Given the description of an element on the screen output the (x, y) to click on. 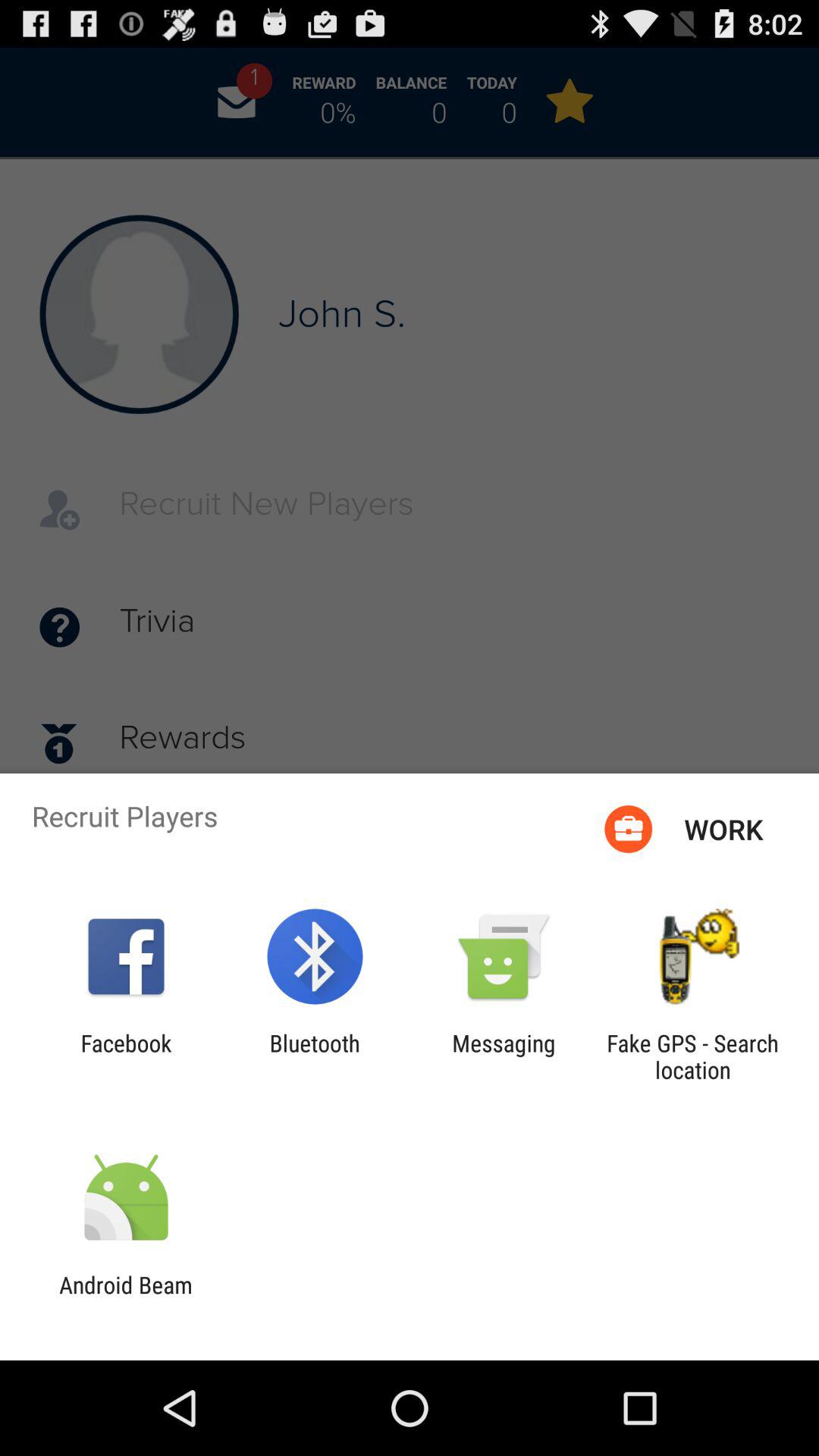
turn off the icon to the right of the facebook icon (314, 1056)
